Given the description of an element on the screen output the (x, y) to click on. 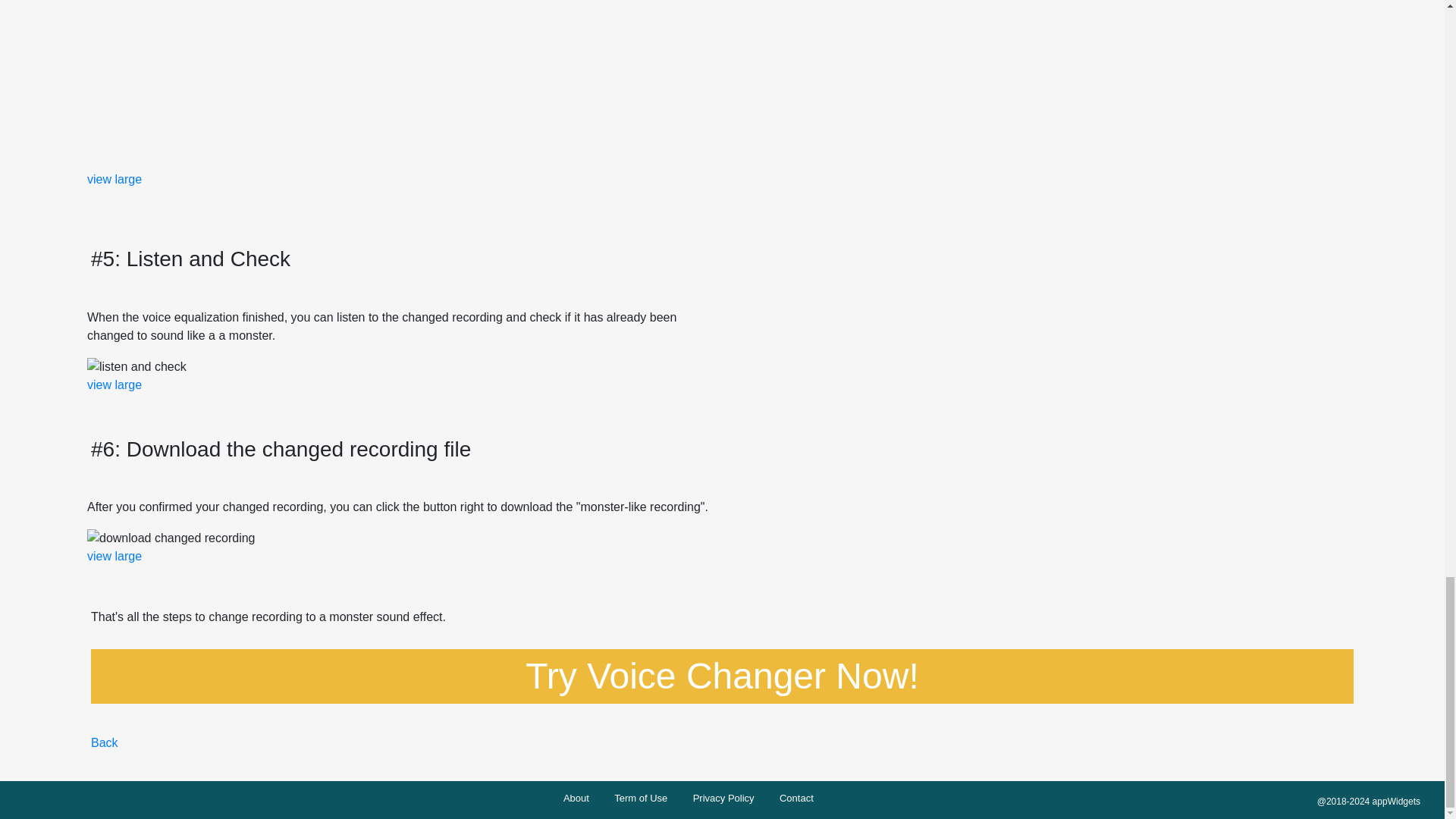
view large (114, 555)
view large (114, 384)
Back (103, 742)
view large (114, 178)
Try Voice Changer Now! (721, 676)
